Given the description of an element on the screen output the (x, y) to click on. 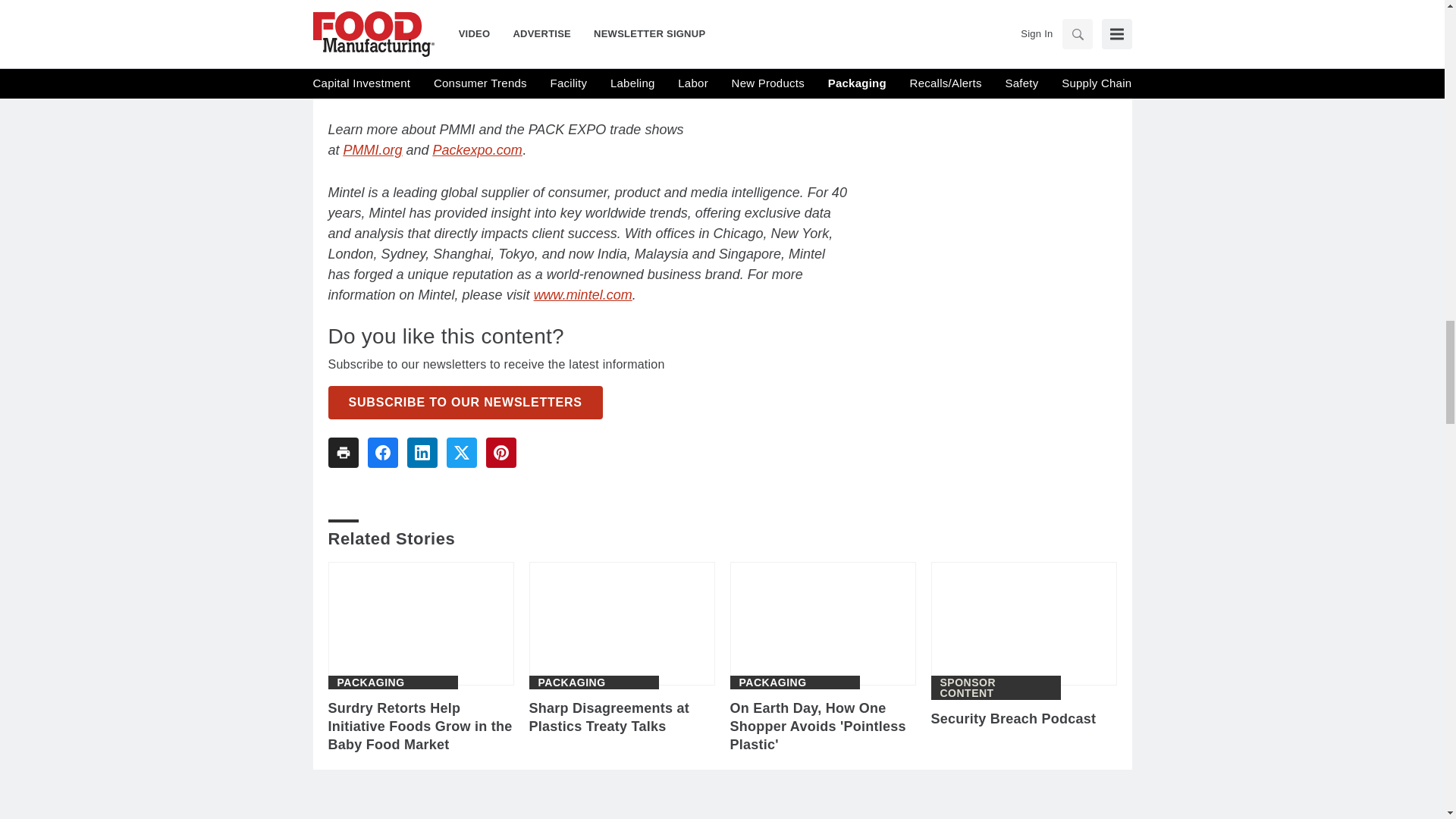
Share To linkedin (421, 452)
Share To pinterest (499, 452)
Share To facebook (381, 452)
Share To print (342, 452)
Share To twitter (460, 452)
